Given the description of an element on the screen output the (x, y) to click on. 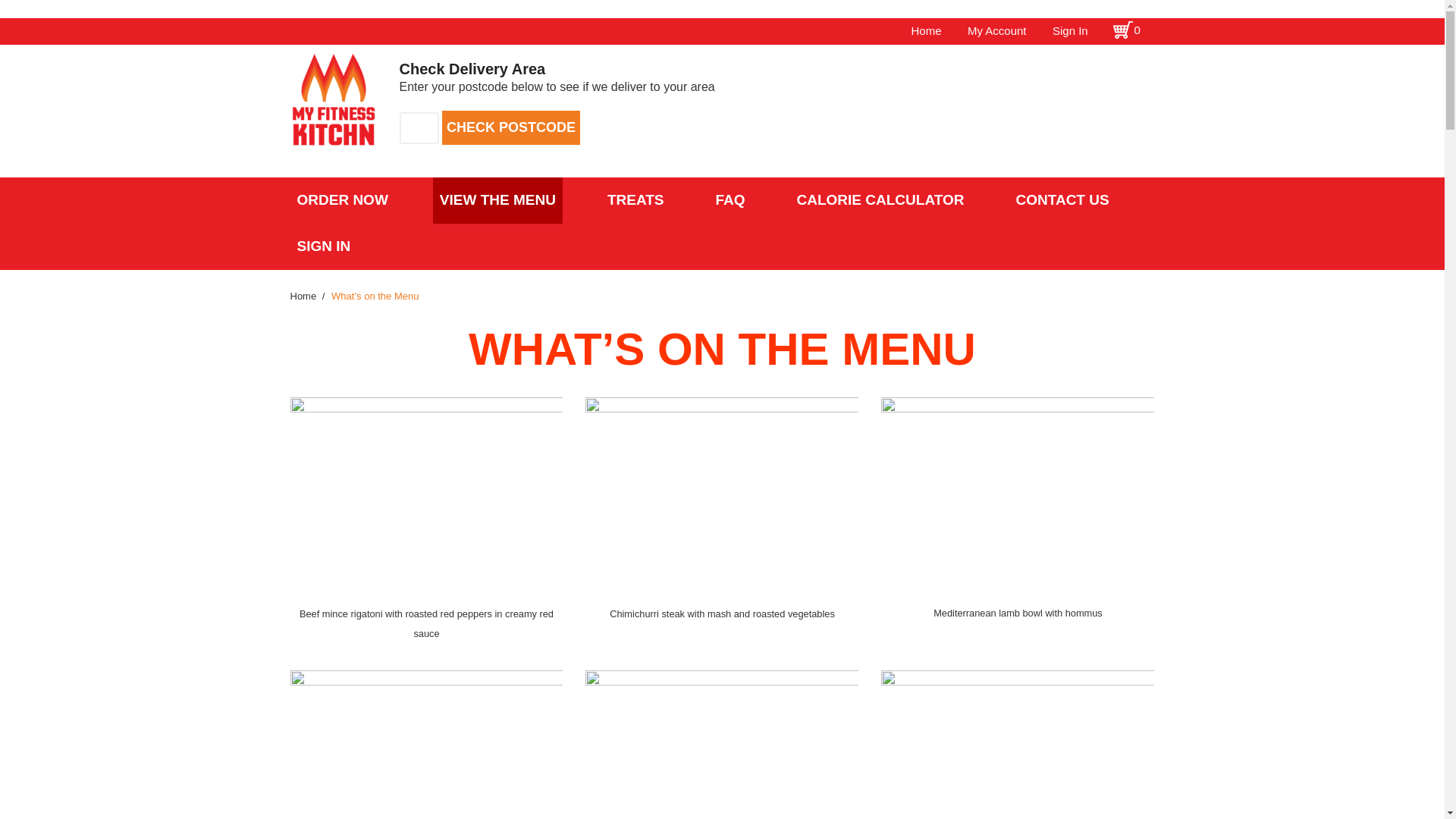
Home (302, 296)
VIEW THE MENU (497, 200)
My Fitness Kitchn (302, 296)
SIGN IN (322, 246)
Sign In (1069, 30)
CHECK POSTCODE (510, 127)
FAQ (729, 200)
CALORIE CALCULATOR (880, 200)
 Treat yourself with some of our Home Delivery Healthy Meals (635, 200)
